Given the description of an element on the screen output the (x, y) to click on. 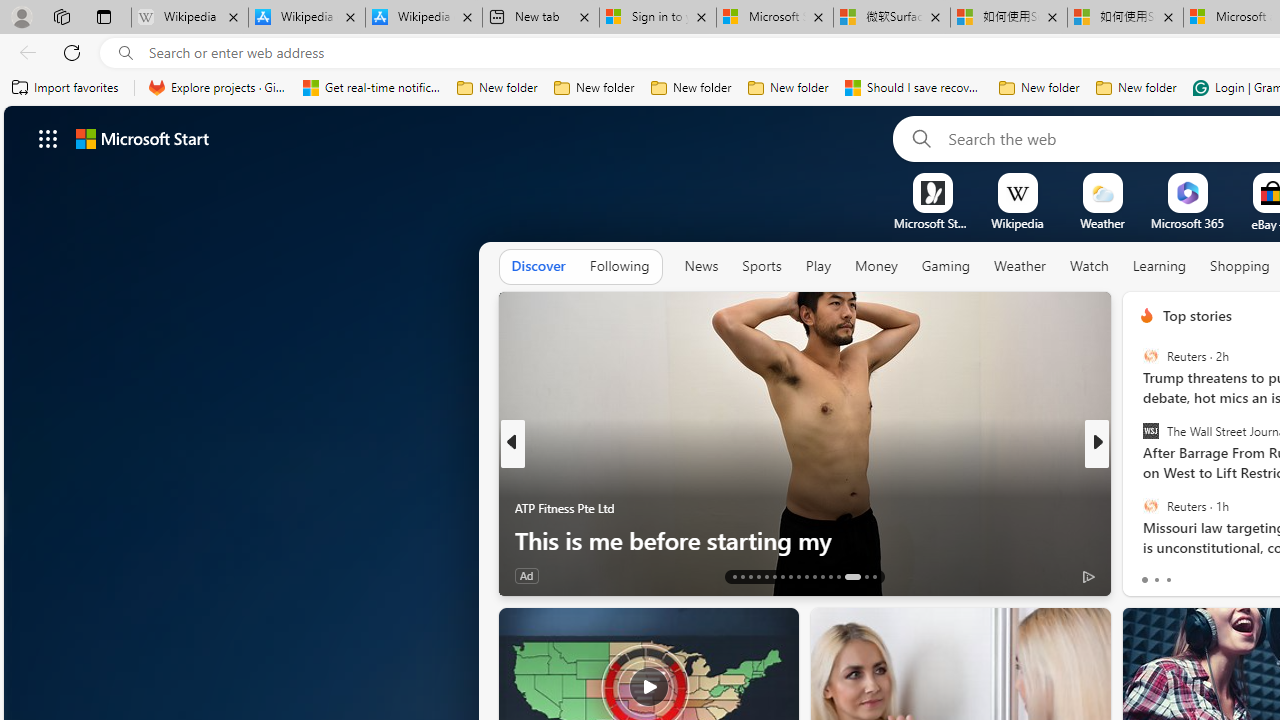
AutomationID: tab-18 (774, 576)
News (701, 265)
AutomationID: tab-29 (874, 576)
This is me before starting my (804, 539)
Gaming (945, 265)
AutomationID: tab-17 (765, 576)
Play (817, 265)
AutomationID: tab-14 (742, 576)
View comments 1 Comment (1229, 575)
Import favorites (65, 88)
GOBankingRates (1138, 475)
